Given the description of an element on the screen output the (x, y) to click on. 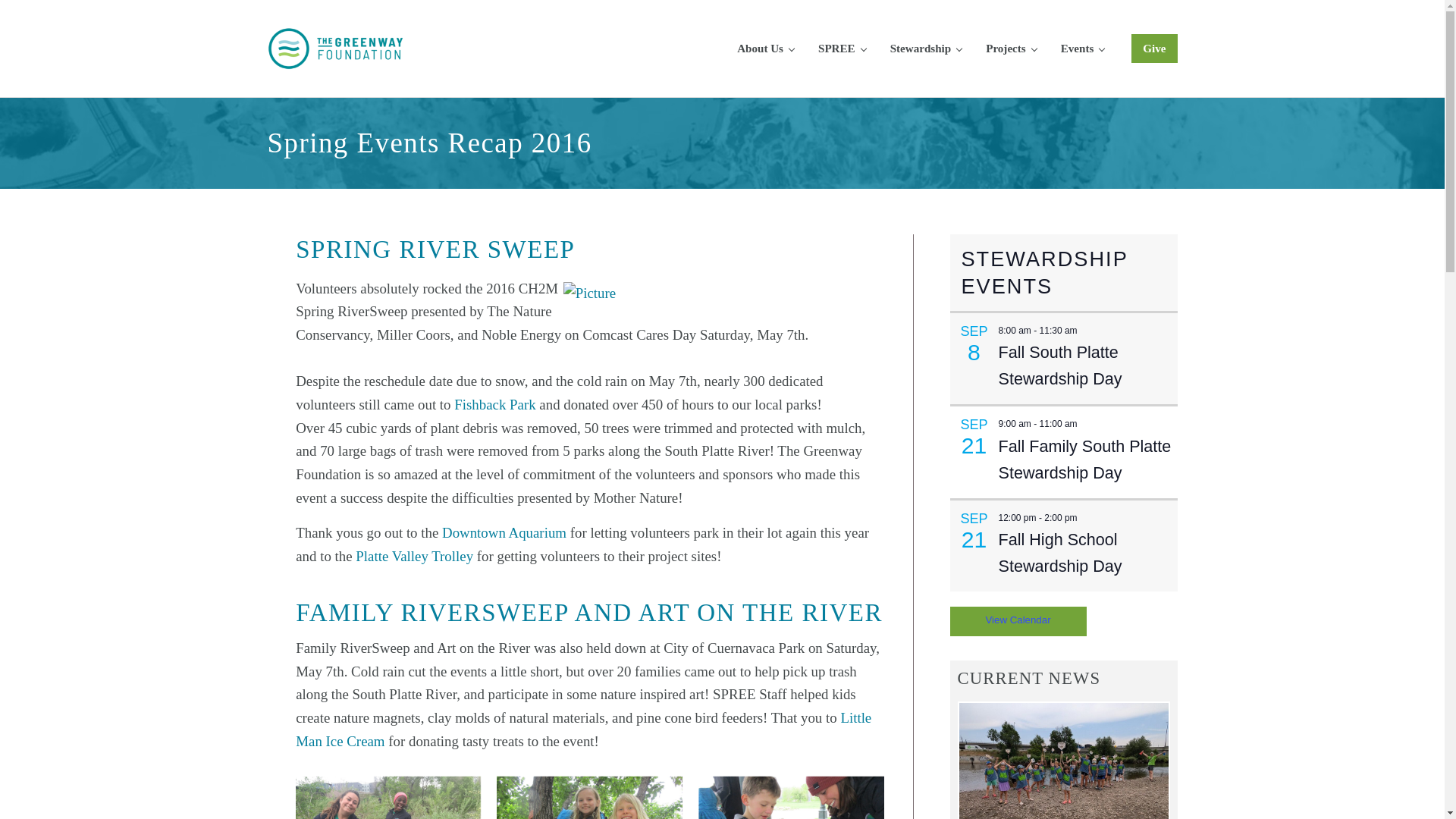
Fall Family South Platte Stewardship Day (1083, 459)
View more events. (1017, 620)
About Us (765, 48)
Fall South Platte Stewardship Day (1059, 366)
Fall High School Stewardship Day (1059, 552)
Stewardship (925, 48)
SPREE (841, 48)
